Given the description of an element on the screen output the (x, y) to click on. 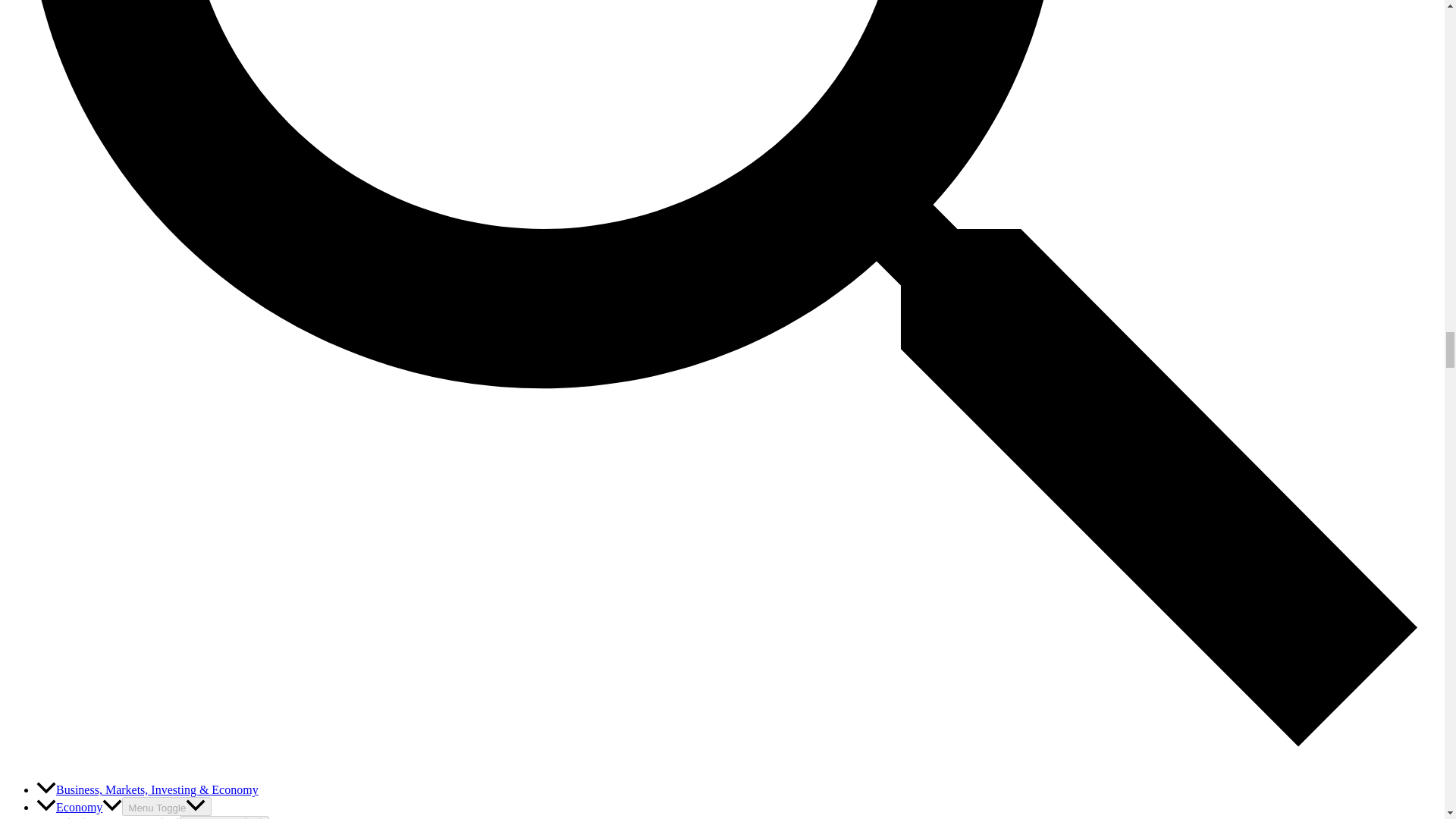
Menu Toggle (224, 817)
Economy (79, 807)
Menu Toggle (166, 805)
